Given the description of an element on the screen output the (x, y) to click on. 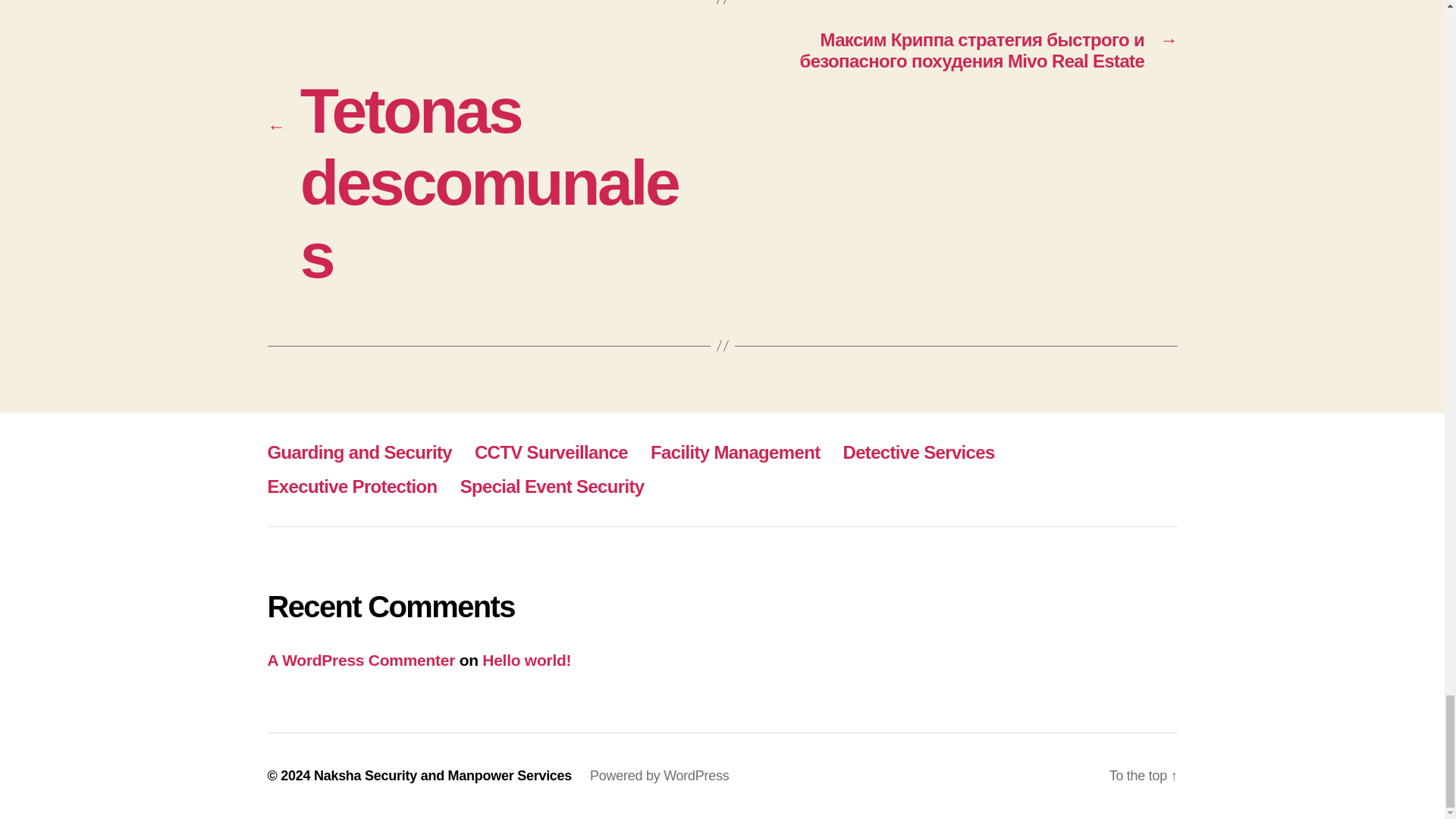
CCTV Surveillance (550, 452)
Hello world! (525, 660)
Guarding and Security (358, 452)
Facility Management (734, 452)
Naksha Security and Manpower Services (443, 775)
Powered by WordPress (659, 775)
Executive Protection (351, 485)
A WordPress Commenter (360, 660)
Special Event Security (552, 485)
Detective Services (918, 452)
